Given the description of an element on the screen output the (x, y) to click on. 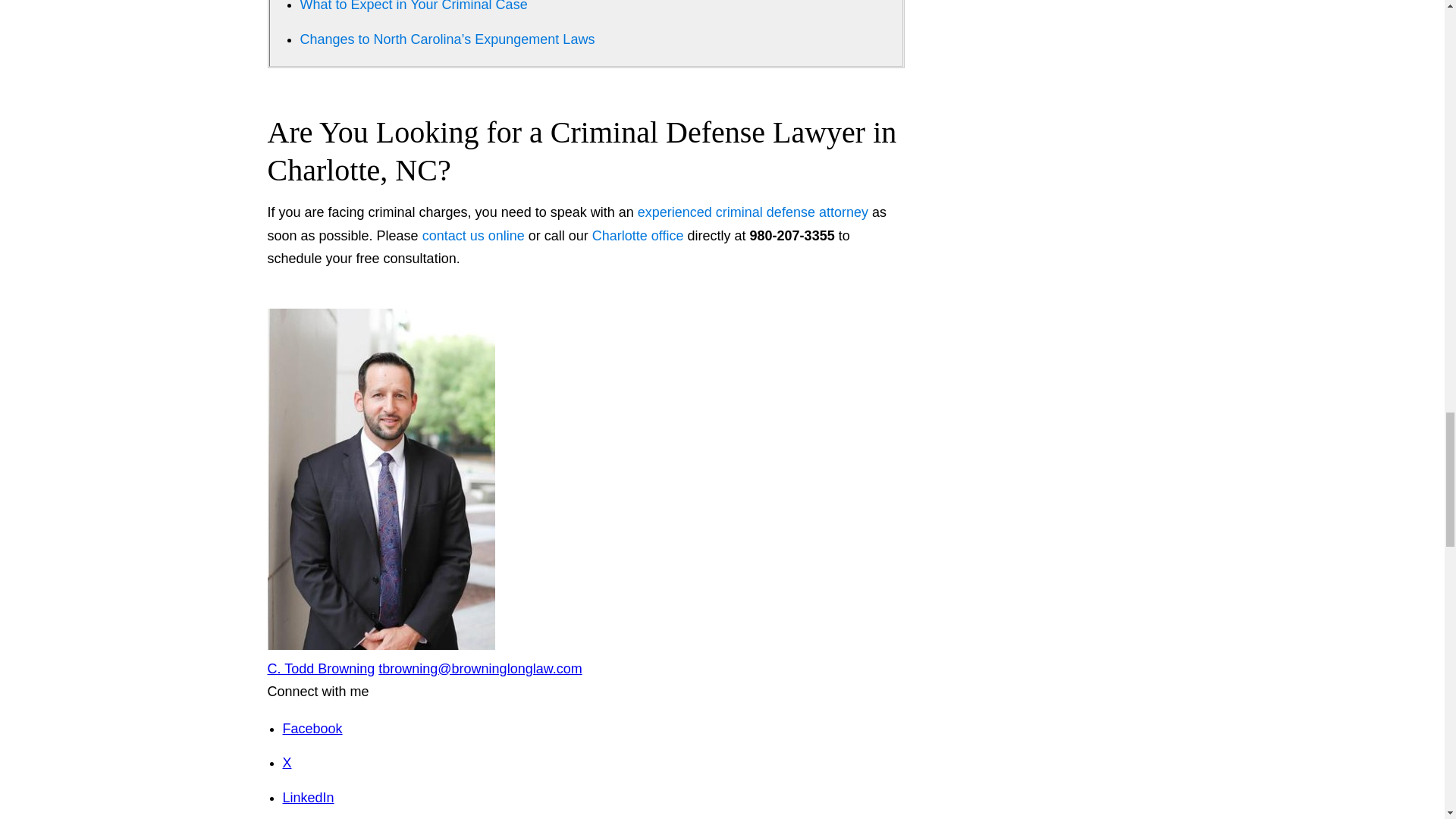
Find me on Facebook (312, 728)
C. Todd Browning (320, 668)
contact us online (473, 235)
experienced criminal defense attorney (752, 212)
What to Expect in Your Criminal Case (413, 6)
Charlotte office (638, 235)
Connect with me on LinkedIn (307, 797)
